Given the description of an element on the screen output the (x, y) to click on. 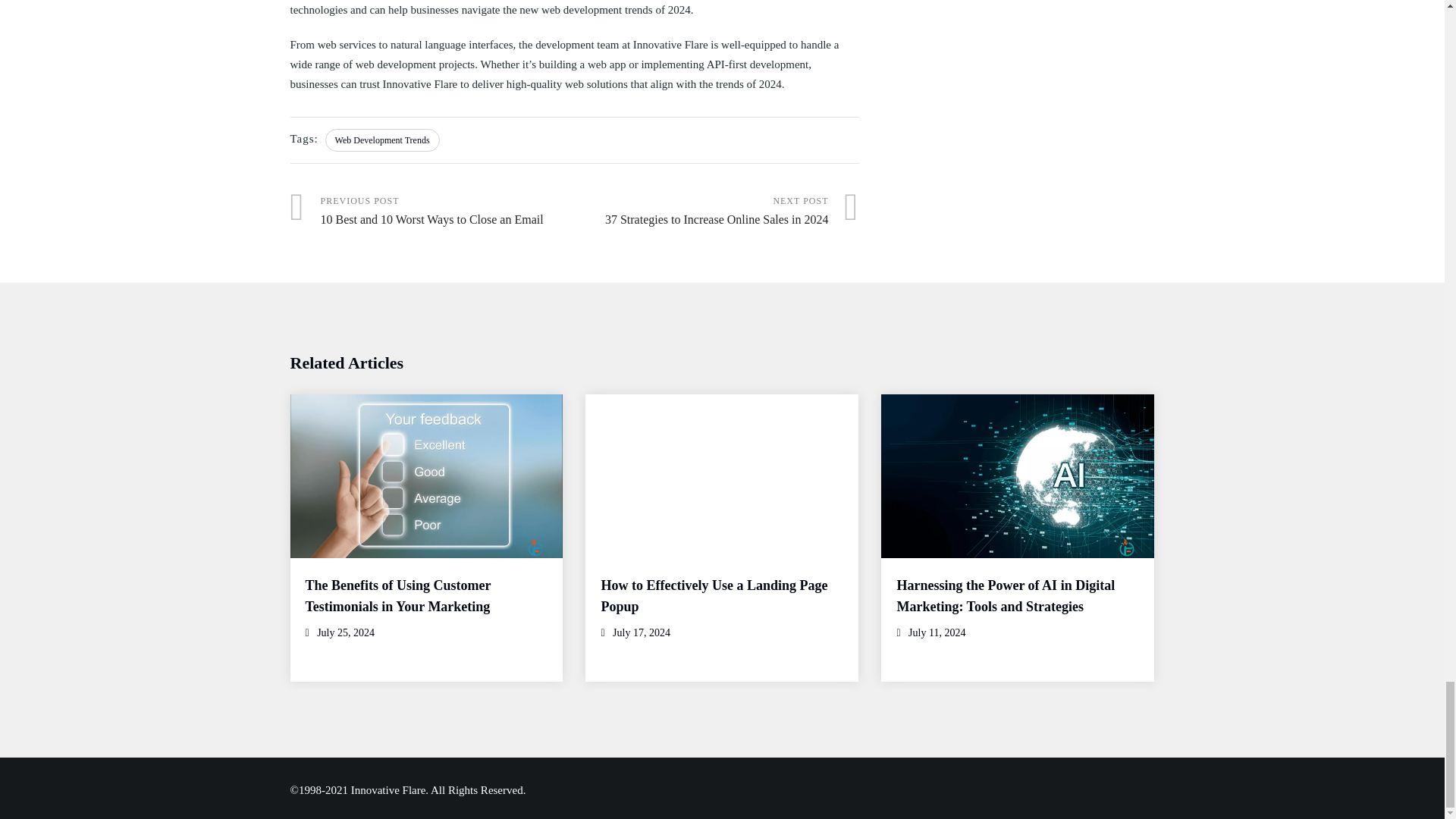
10 Best and 10 Worst Ways to Close an Email (431, 212)
How to Effectively Use a Landing Page Popup (713, 596)
37 Strategies to Increase Online Sales in 2024 (717, 212)
